Given the description of an element on the screen output the (x, y) to click on. 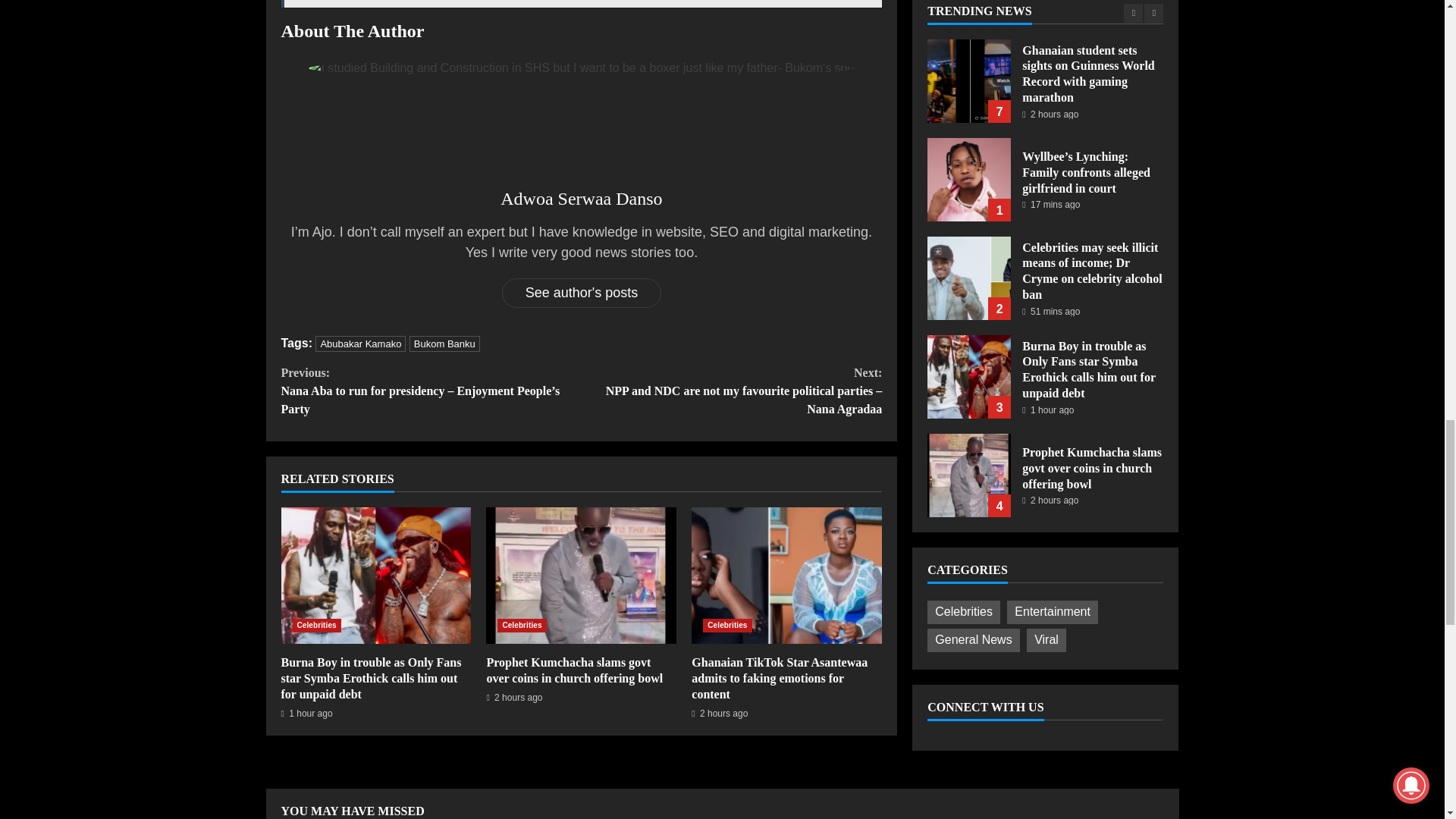
Adwoa Serwaa Danso (581, 198)
Celebrities (316, 625)
Celebrities (521, 625)
Abubakar Kamako (360, 343)
Bukom Banku (444, 343)
See author's posts (582, 292)
